Given the description of an element on the screen output the (x, y) to click on. 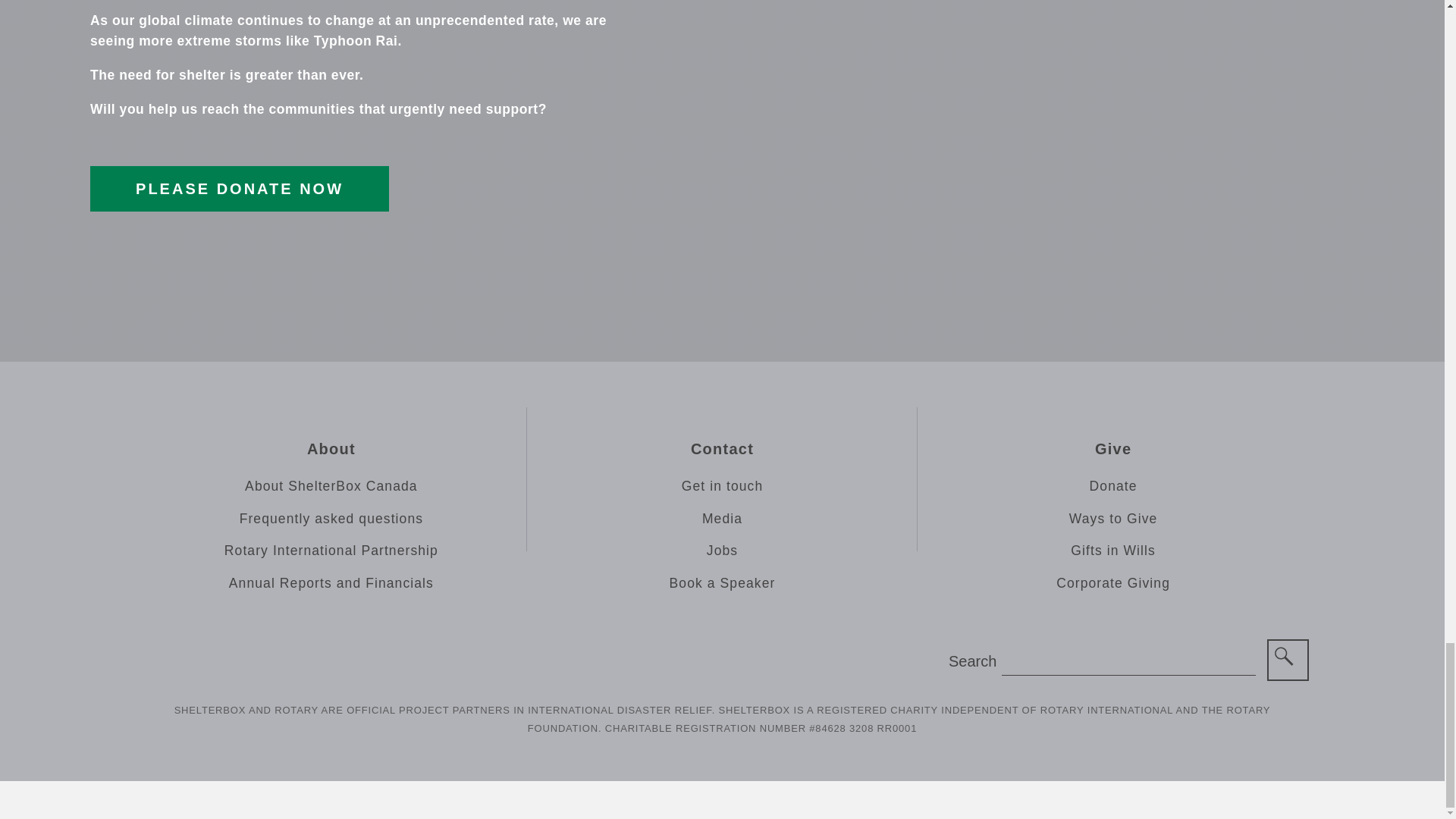
Book a Speaker (722, 582)
Get in touch (722, 486)
Corporate Giving (1112, 582)
Donate (1112, 486)
Rotary International Partnership (331, 551)
Annual Reports and Financials (331, 582)
Search (1287, 659)
PLEASE DONATE NOW (239, 188)
Search (1287, 659)
Frequently asked questions (331, 518)
